Given the description of an element on the screen output the (x, y) to click on. 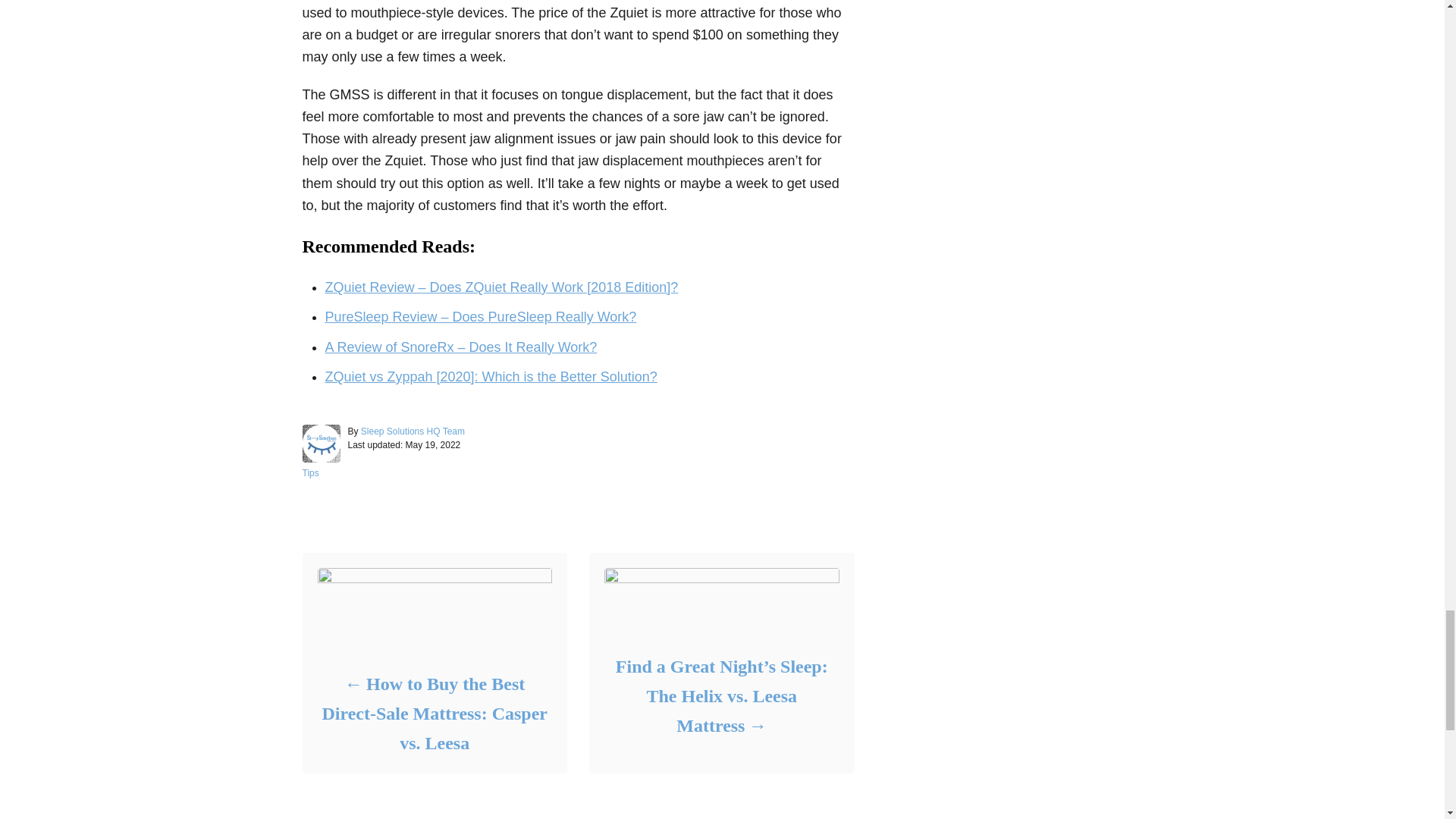
How to Buy the Best Direct-Sale Mattress: Casper vs. Leesa (434, 713)
Sleep Solutions HQ Team (412, 430)
Tips (309, 472)
